Given the description of an element on the screen output the (x, y) to click on. 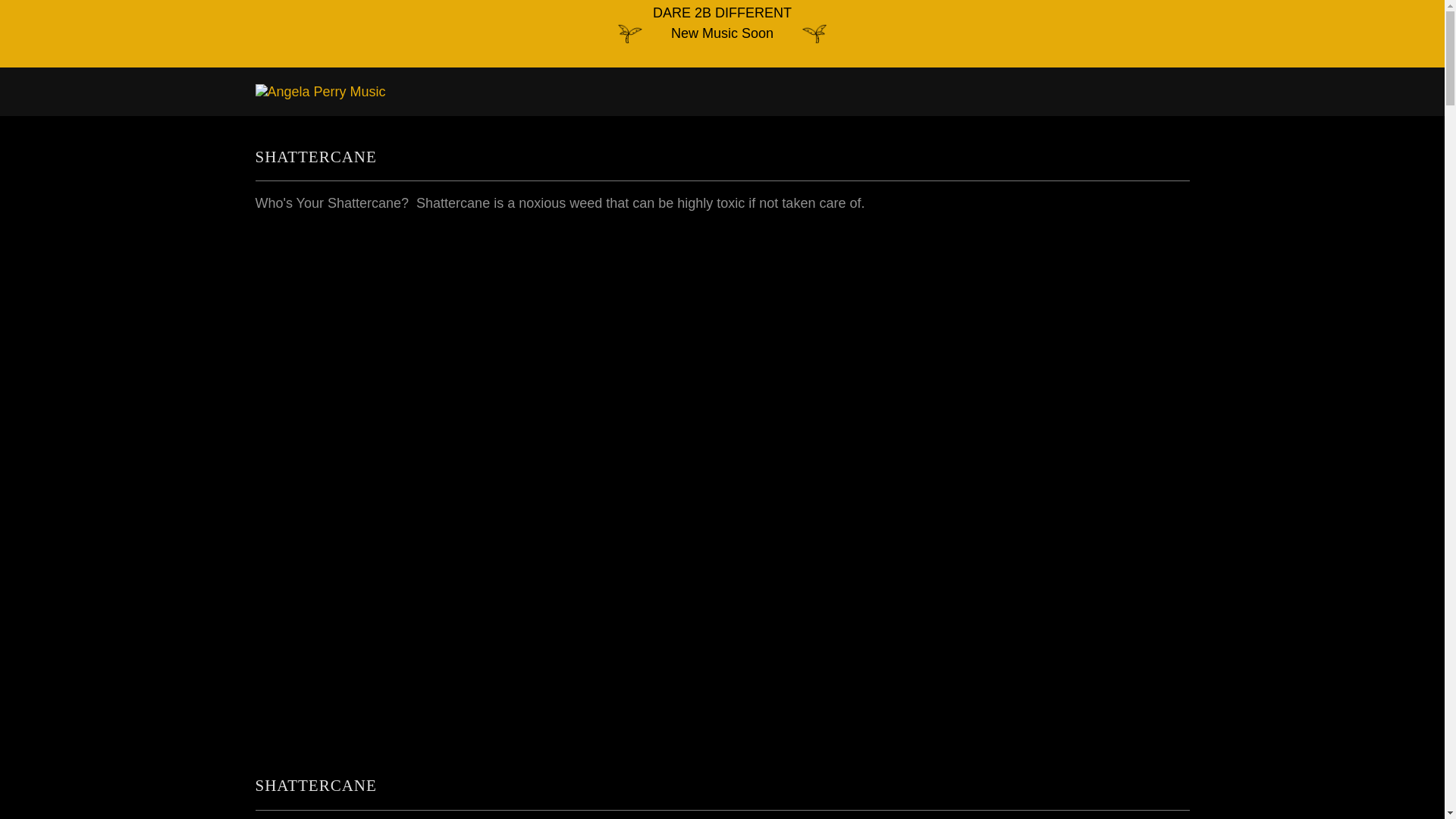
Angela Perry Music (319, 90)
